Given the description of an element on the screen output the (x, y) to click on. 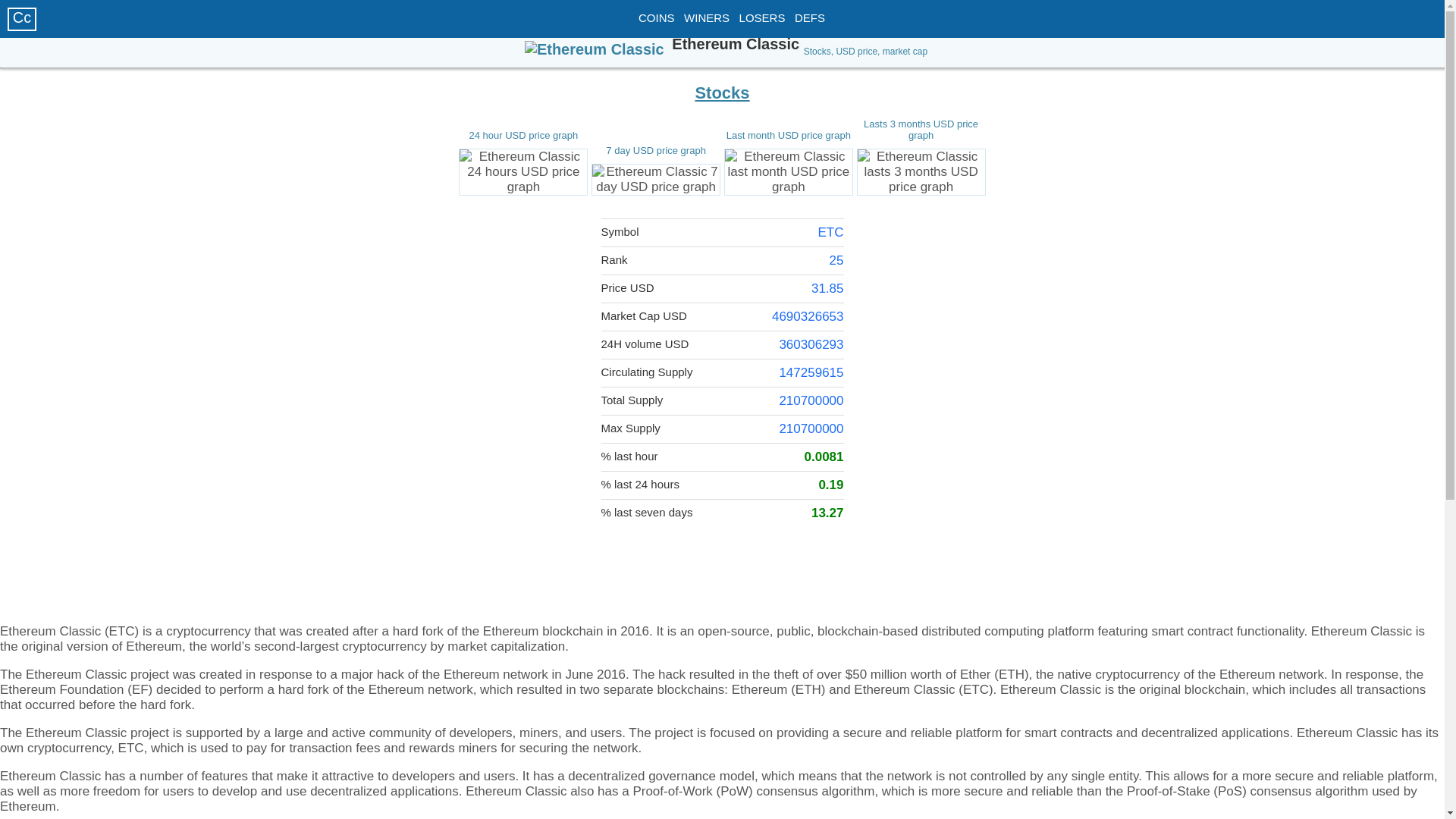
Cc (21, 17)
DEFS (809, 17)
currencies concepts (809, 17)
Home (21, 17)
winners (706, 17)
WINERS (706, 17)
LOSERS (762, 17)
winners (762, 17)
currencies (657, 17)
COINS (657, 17)
